Given the description of an element on the screen output the (x, y) to click on. 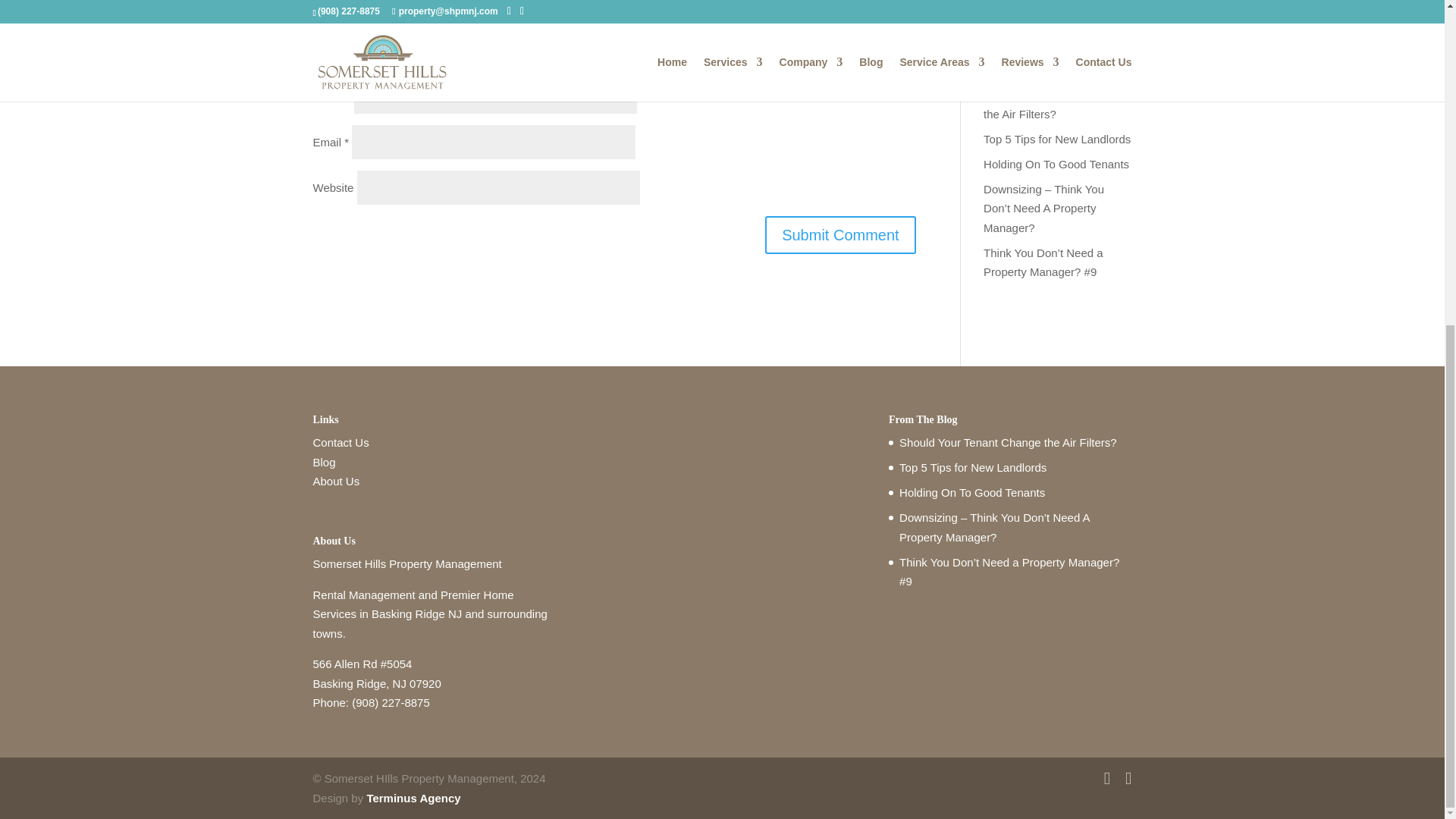
Submit Comment (840, 234)
Submit Comment (840, 234)
Subscribe (1025, 11)
